Given the description of an element on the screen output the (x, y) to click on. 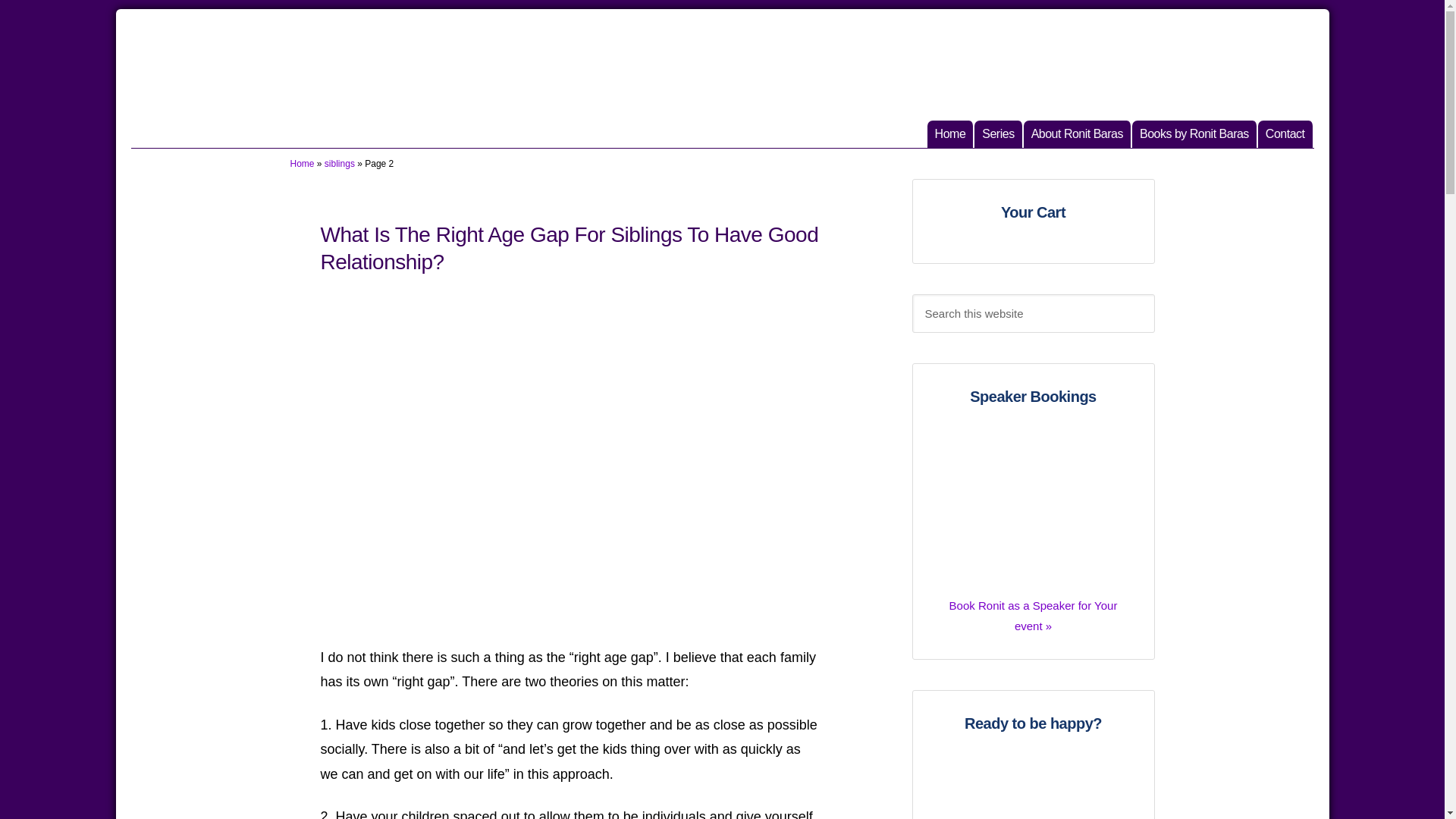
Series (1285, 134)
Ronit Baras - Parenting Coach (998, 134)
Books by Ronit Baras (1033, 508)
Home (1194, 134)
Home (951, 134)
Family Matters: Practical Parenting Blog (301, 163)
Ronit Baras - Parenting Expert (1285, 134)
About Ronit Baras (1033, 607)
siblings (1077, 134)
Skip to primary navigation (339, 163)
